Given the description of an element on the screen output the (x, y) to click on. 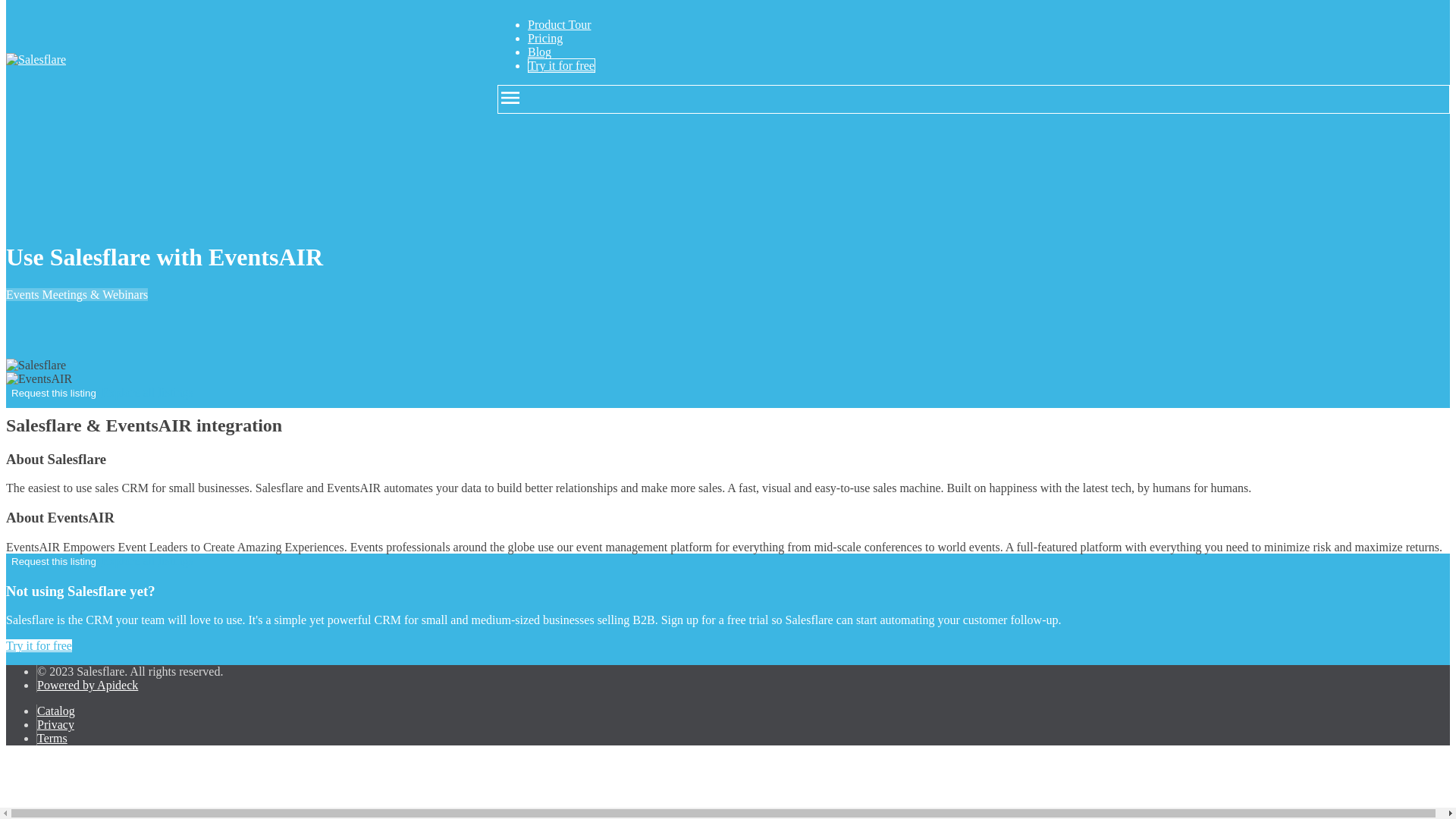
Request this listing (53, 392)
Salesflare (35, 59)
Explore all listings (147, 560)
Catalog (56, 710)
Try it for free (561, 65)
Powered by Apideck (87, 684)
Try it for free (38, 645)
Privacy (55, 724)
EventsAIR (38, 378)
Blog (539, 51)
